Given the description of an element on the screen output the (x, y) to click on. 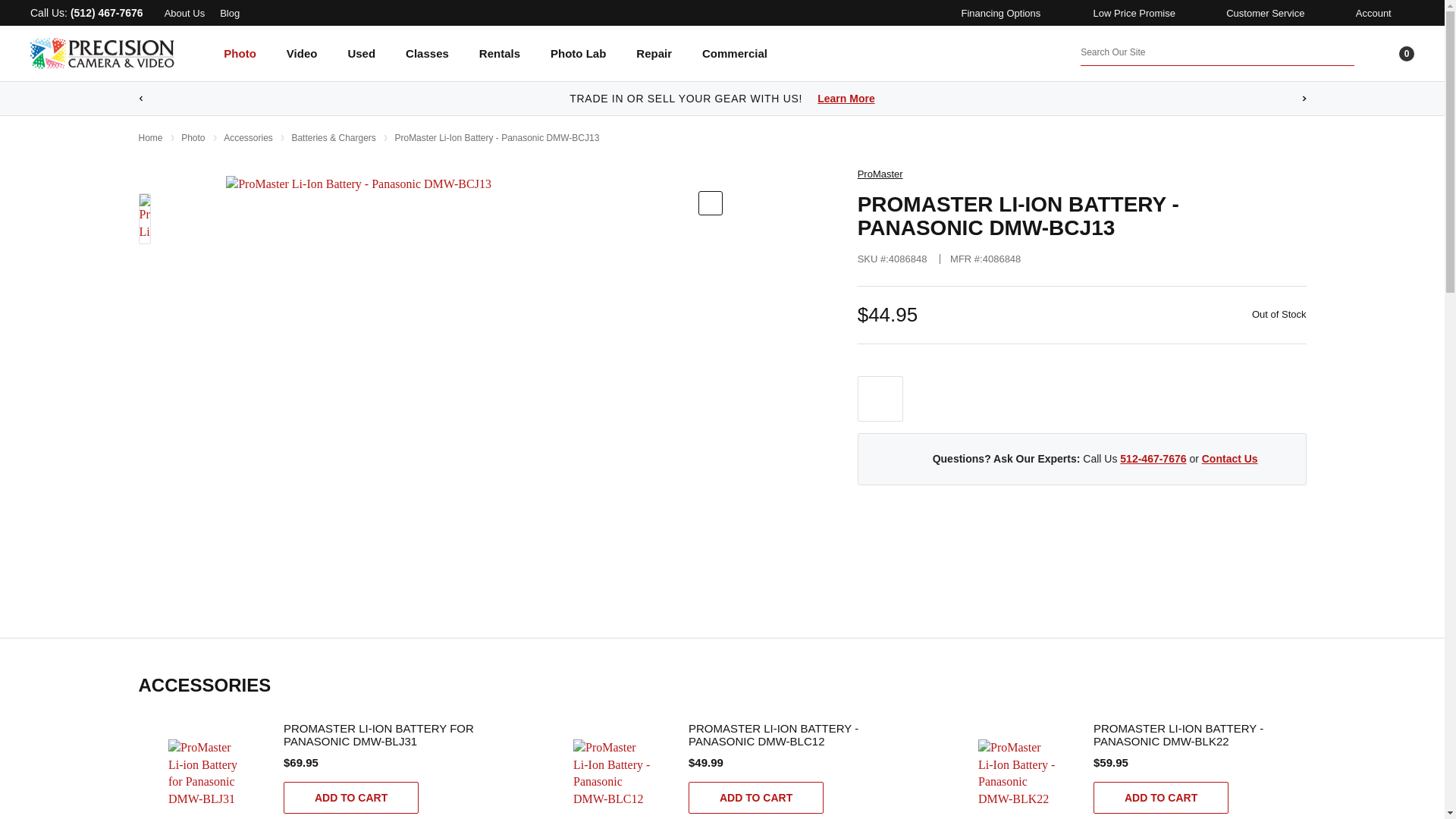
ProMaster Li-ion Battery for Panasonic DMW-BLJ31 (207, 772)
Account (1370, 12)
Blog (229, 12)
Customer Service (1262, 12)
ProMaster Li-Ion Battery - Panasonic DMW-BLC12 (612, 772)
Video (301, 63)
About Us (184, 12)
Precision Camera and Video (102, 53)
Low Price Promise (1130, 12)
